Given the description of an element on the screen output the (x, y) to click on. 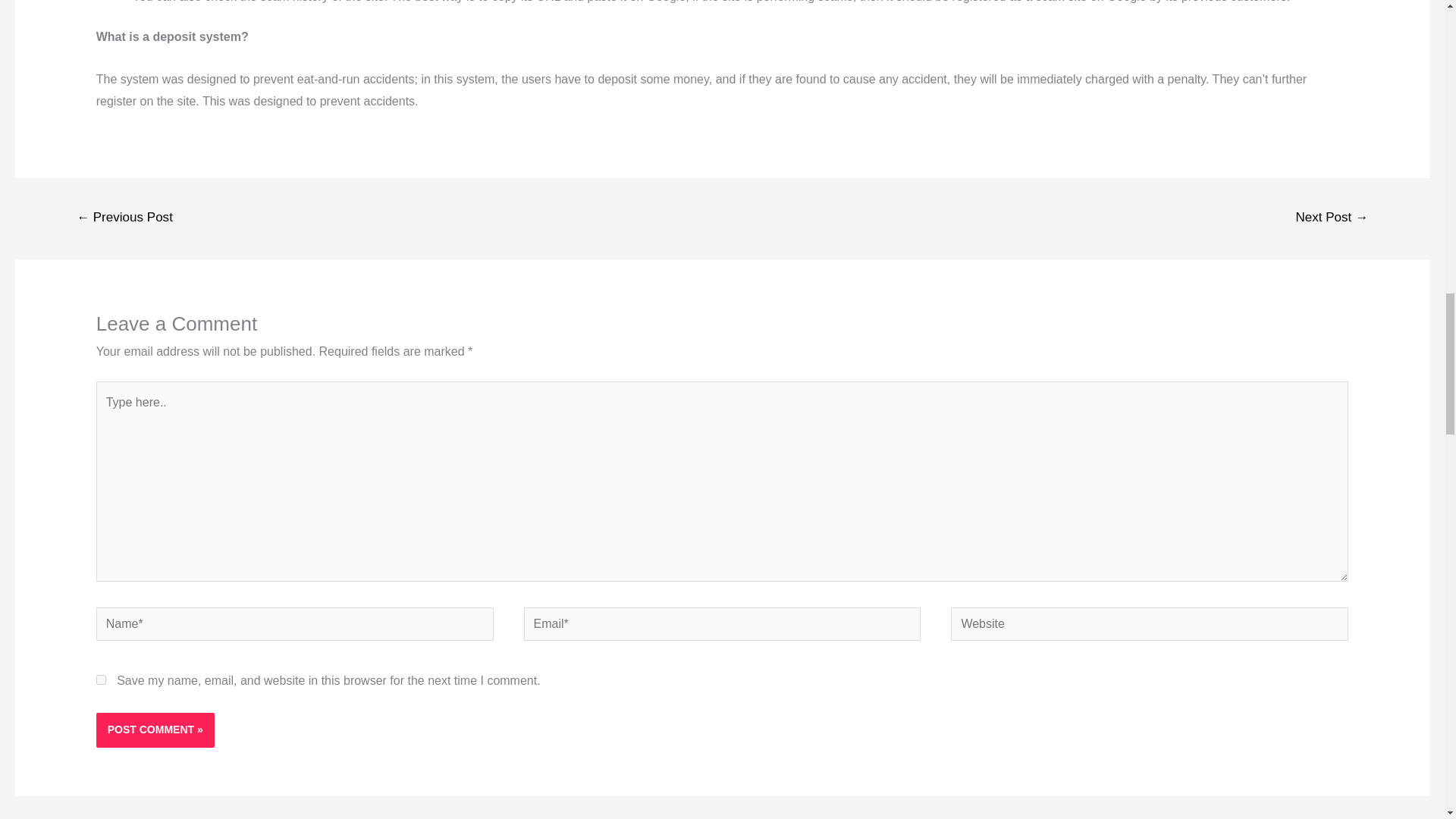
yes (101, 679)
